Given the description of an element on the screen output the (x, y) to click on. 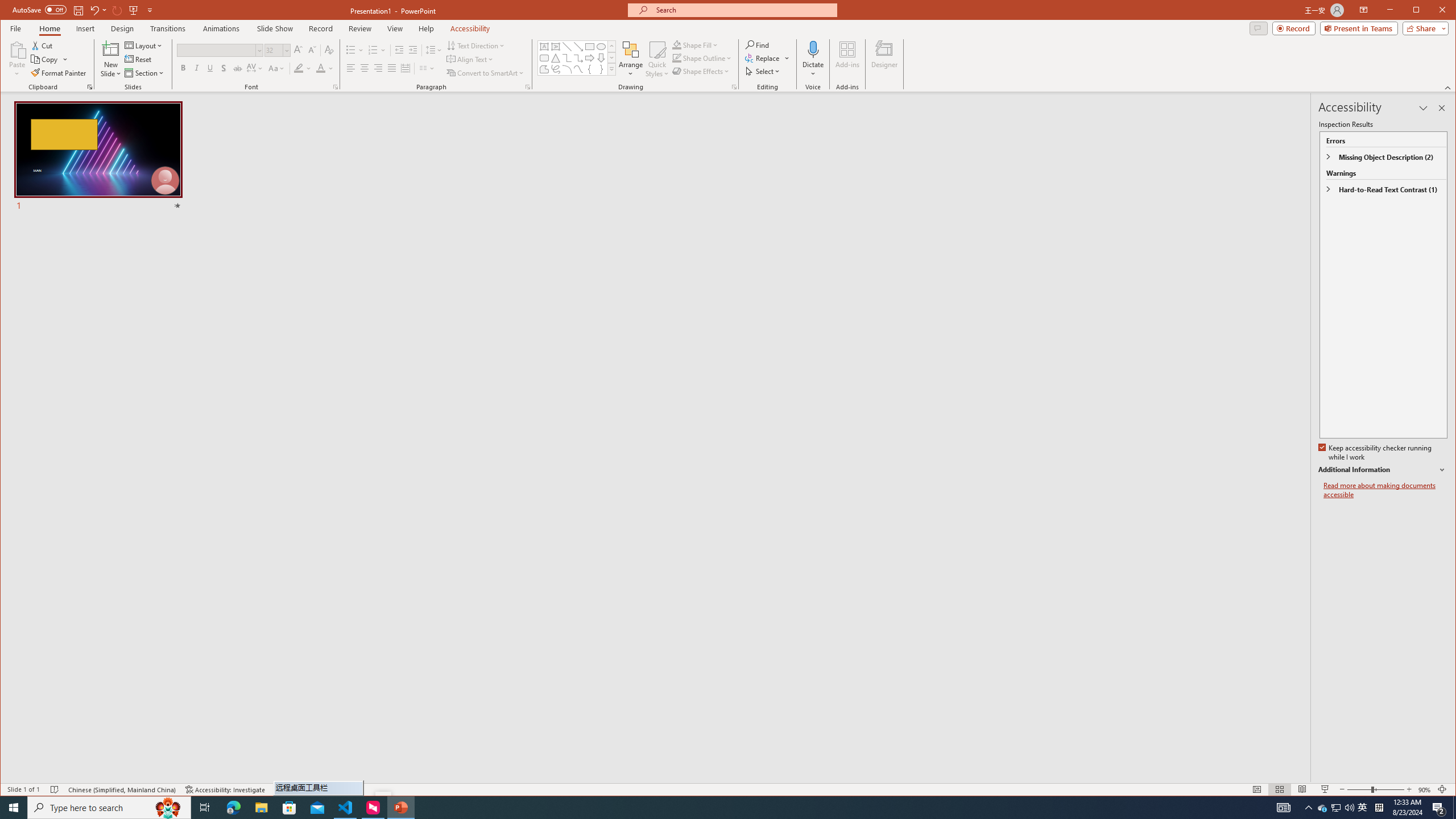
Align Right (377, 68)
Microsoft Edge (233, 807)
Cut (42, 45)
Right Brace (601, 69)
Vertical Text Box (556, 46)
Freeform: Scribble (1322, 807)
